Given the description of an element on the screen output the (x, y) to click on. 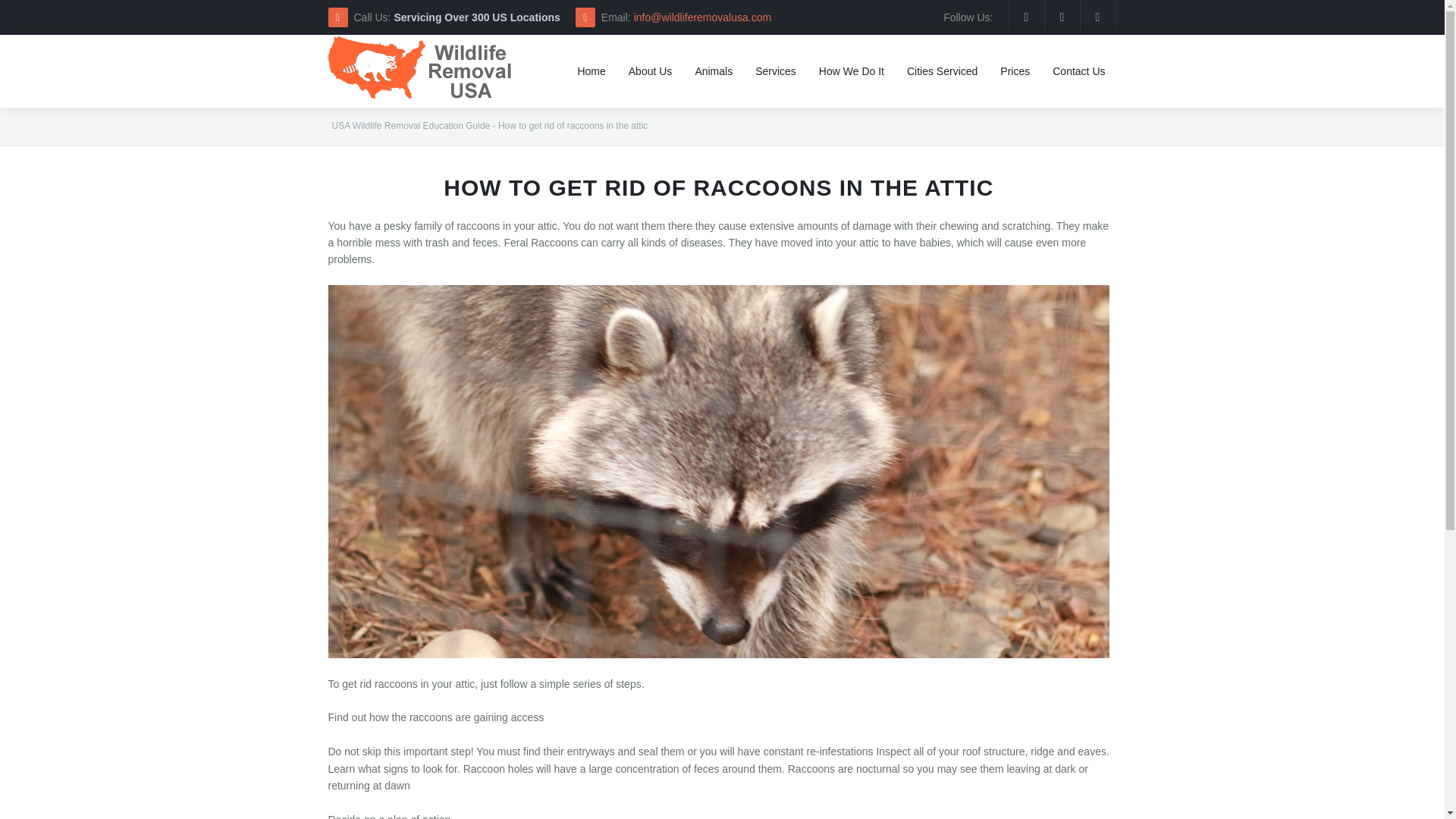
How We Do It (851, 71)
Contact Us (1078, 71)
Cities Serviced (941, 71)
About Us (650, 71)
